Given the description of an element on the screen output the (x, y) to click on. 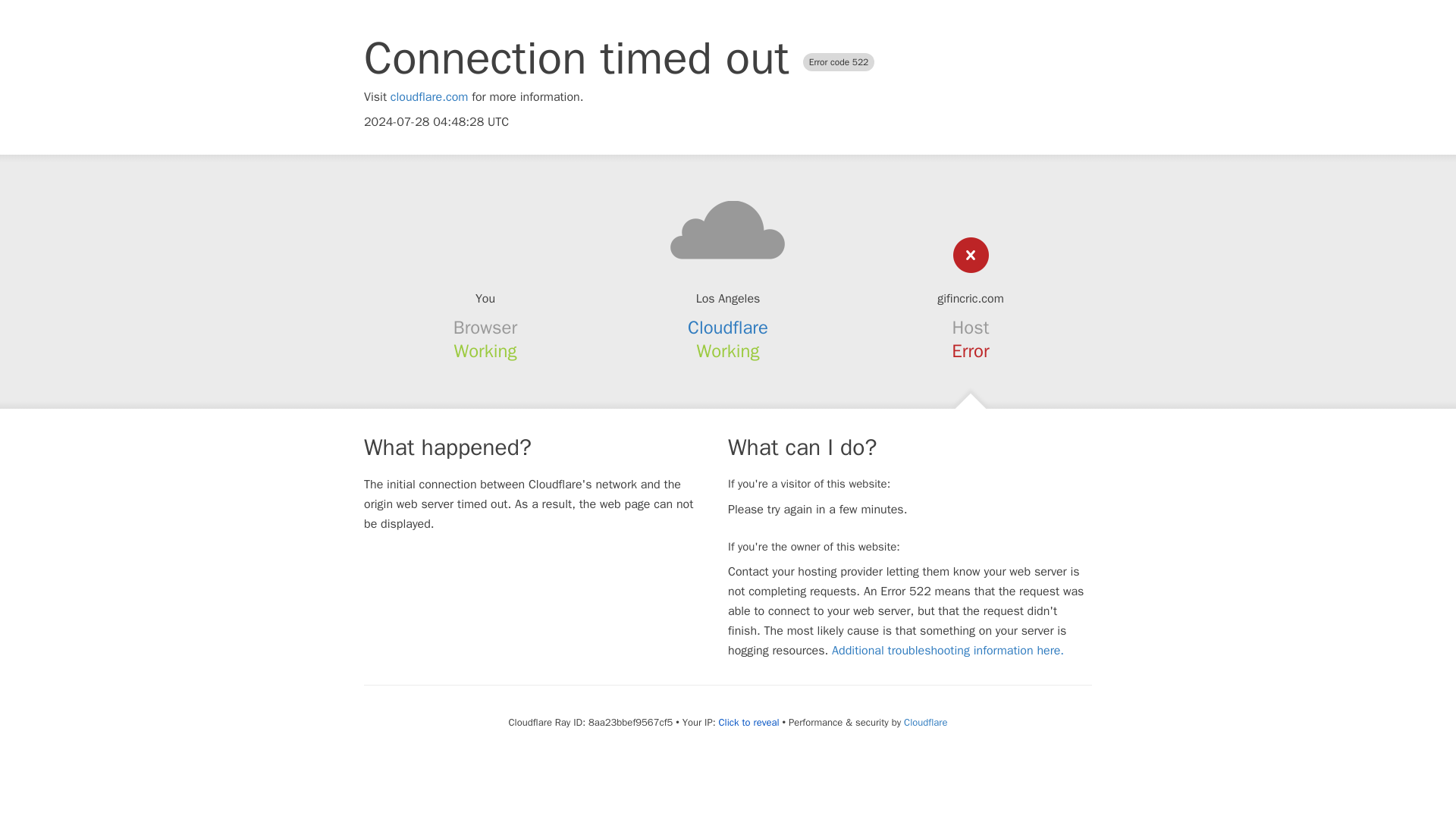
Additional troubleshooting information here. (947, 650)
cloudflare.com (429, 96)
Click to reveal (748, 722)
Cloudflare (727, 327)
Cloudflare (925, 721)
